Given the description of an element on the screen output the (x, y) to click on. 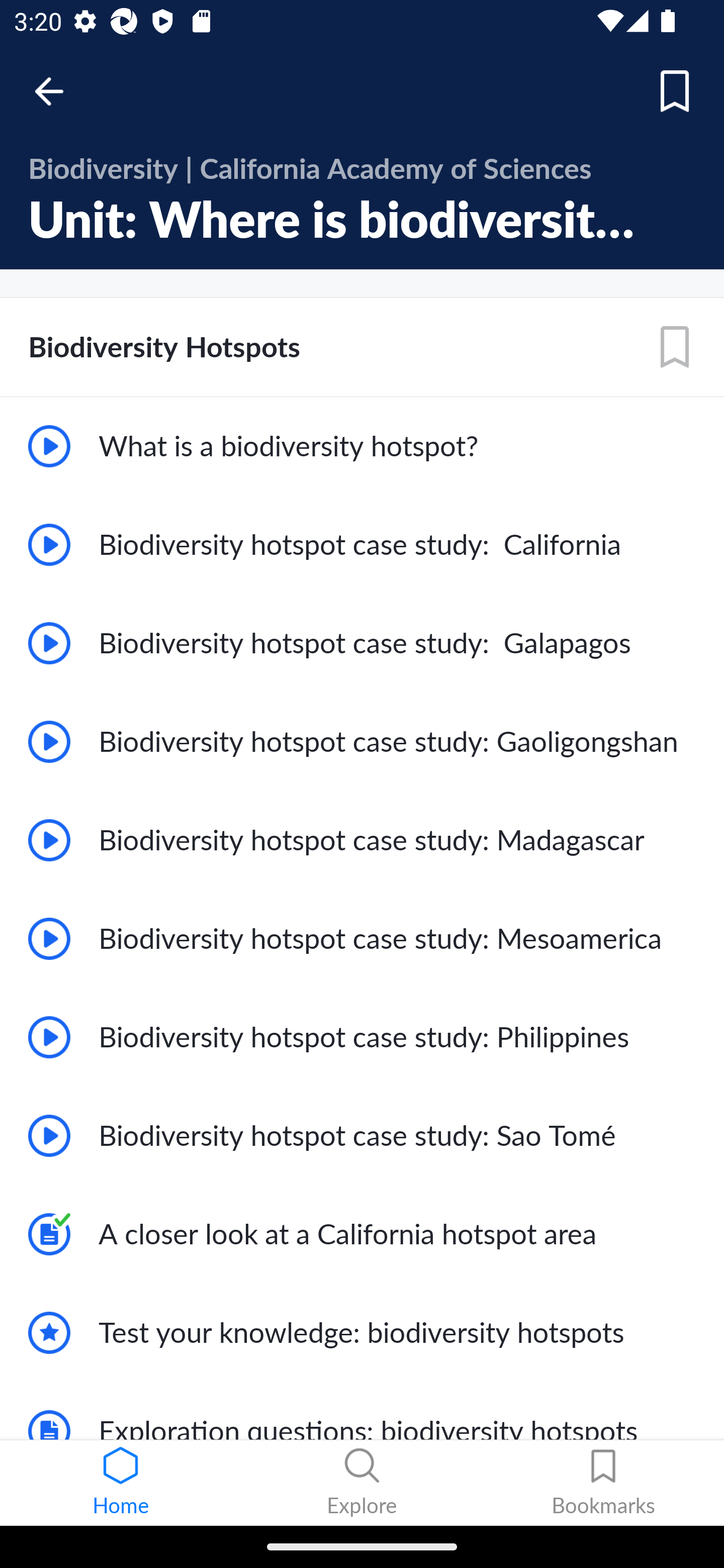
Back (58, 91)
Add Bookmark (674, 91)
Add Bookmark (674, 347)
What is a biodiversity hotspot? (362, 445)
Biodiversity hotspot case study:  California (362, 544)
Biodiversity hotspot case study:  Galapagos (362, 643)
Biodiversity hotspot case study: Gaoligongshan (362, 741)
Biodiversity hotspot case study: Madagascar (362, 839)
Biodiversity hotspot case study: Mesoamerica (362, 938)
Biodiversity hotspot case study: Philippines (362, 1036)
Biodiversity hotspot case study: Sao Tomé (362, 1135)
A closer look at a California hotspot area (362, 1234)
Test your knowledge: biodiversity hotspots (362, 1332)
Home (120, 1482)
Explore (361, 1482)
Bookmarks (603, 1482)
